Given the description of an element on the screen output the (x, y) to click on. 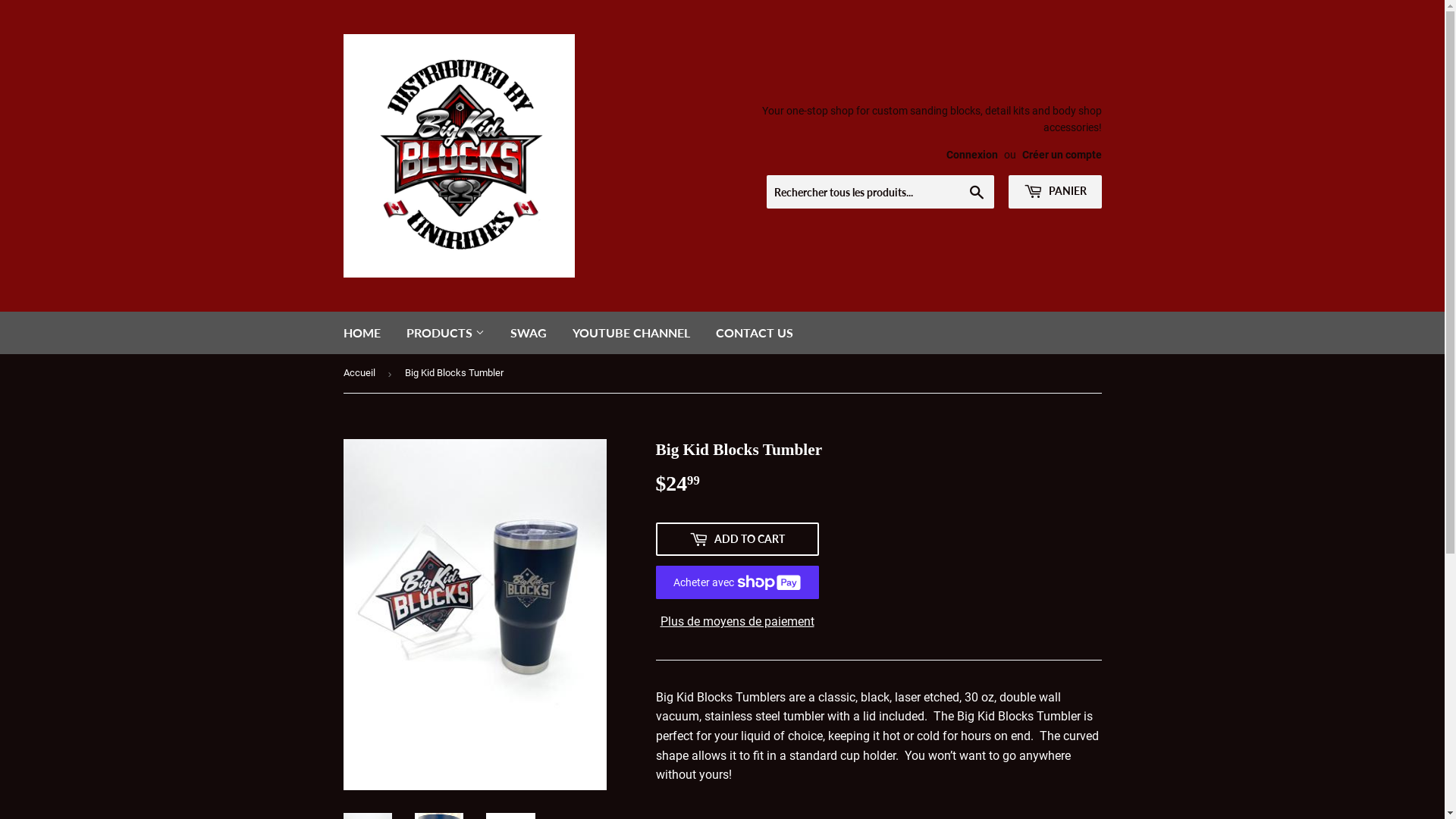
PANIER Element type: text (1054, 191)
Connexion Element type: text (971, 154)
HOME Element type: text (362, 332)
YOUTUBE CHANNEL Element type: text (631, 332)
Plus de moyens de paiement Element type: text (736, 621)
ADD TO CART Element type: text (736, 538)
SWAG Element type: text (528, 332)
PRODUCTS Element type: text (444, 332)
Chercher Element type: text (977, 192)
Accueil Element type: text (360, 373)
CONTACT US Element type: text (753, 332)
